Given the description of an element on the screen output the (x, y) to click on. 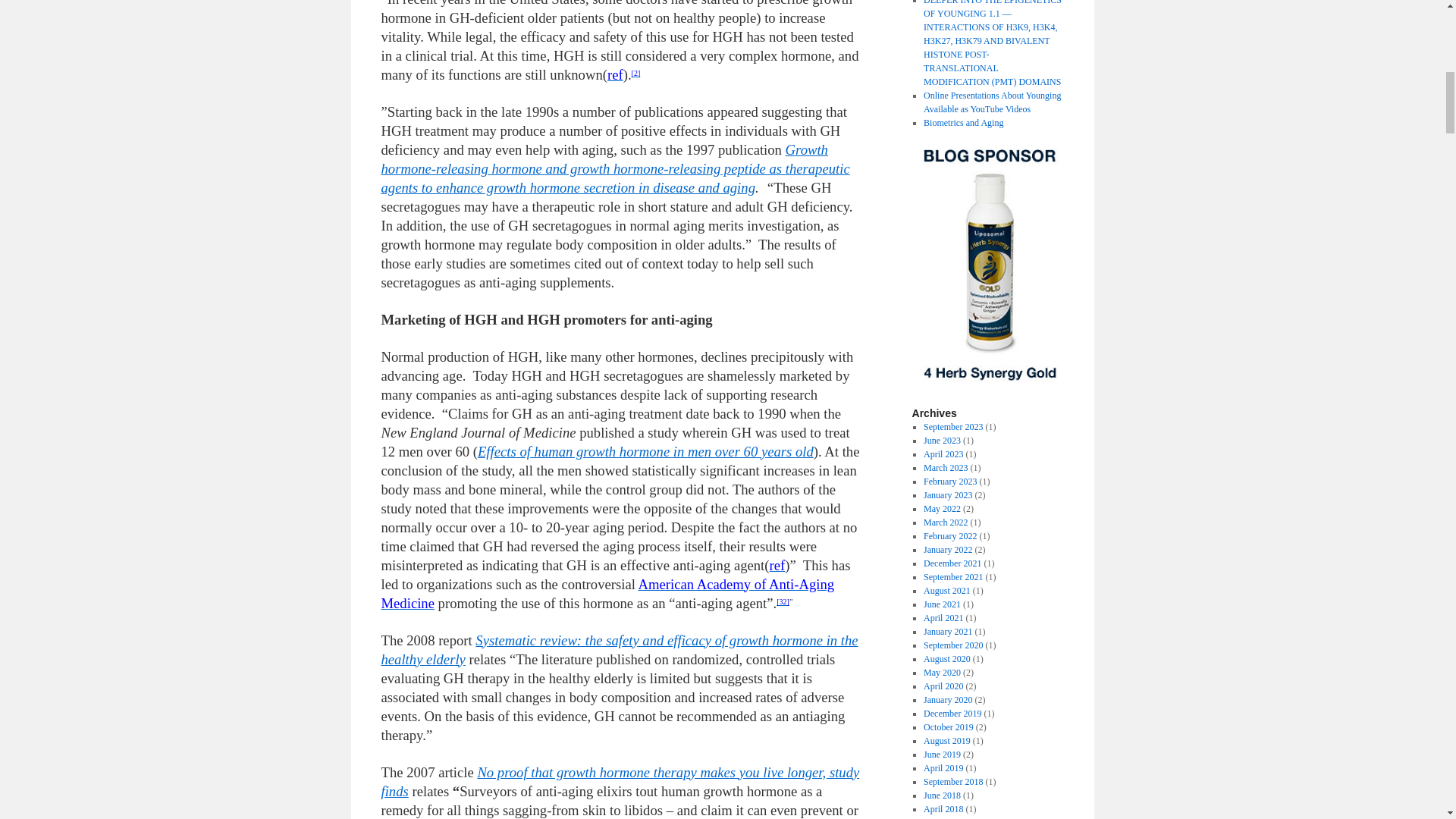
American Academy of Anti-Aging Medicine (607, 593)
Effects of human growth hormone in men over 60 years old (645, 451)
American Academy of Anti-Aging Medicine (607, 593)
ref (778, 565)
ref (615, 74)
